Given the description of an element on the screen output the (x, y) to click on. 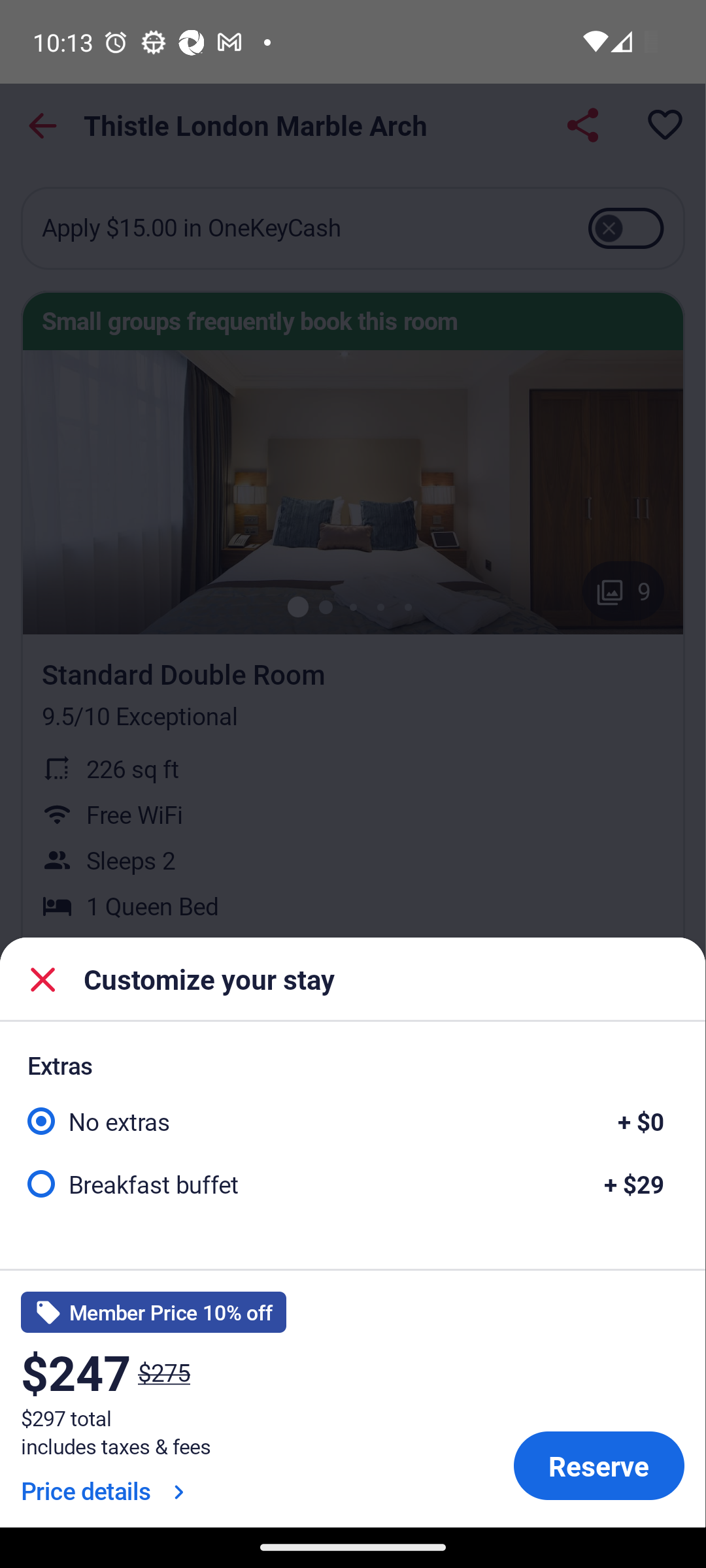
Close sheet (43, 979)
Breakfast buffet + $29 (352, 1182)
$275 The price was $275 (163, 1372)
Reserve Standard Double Room Reserve (598, 1465)
